Given the description of an element on the screen output the (x, y) to click on. 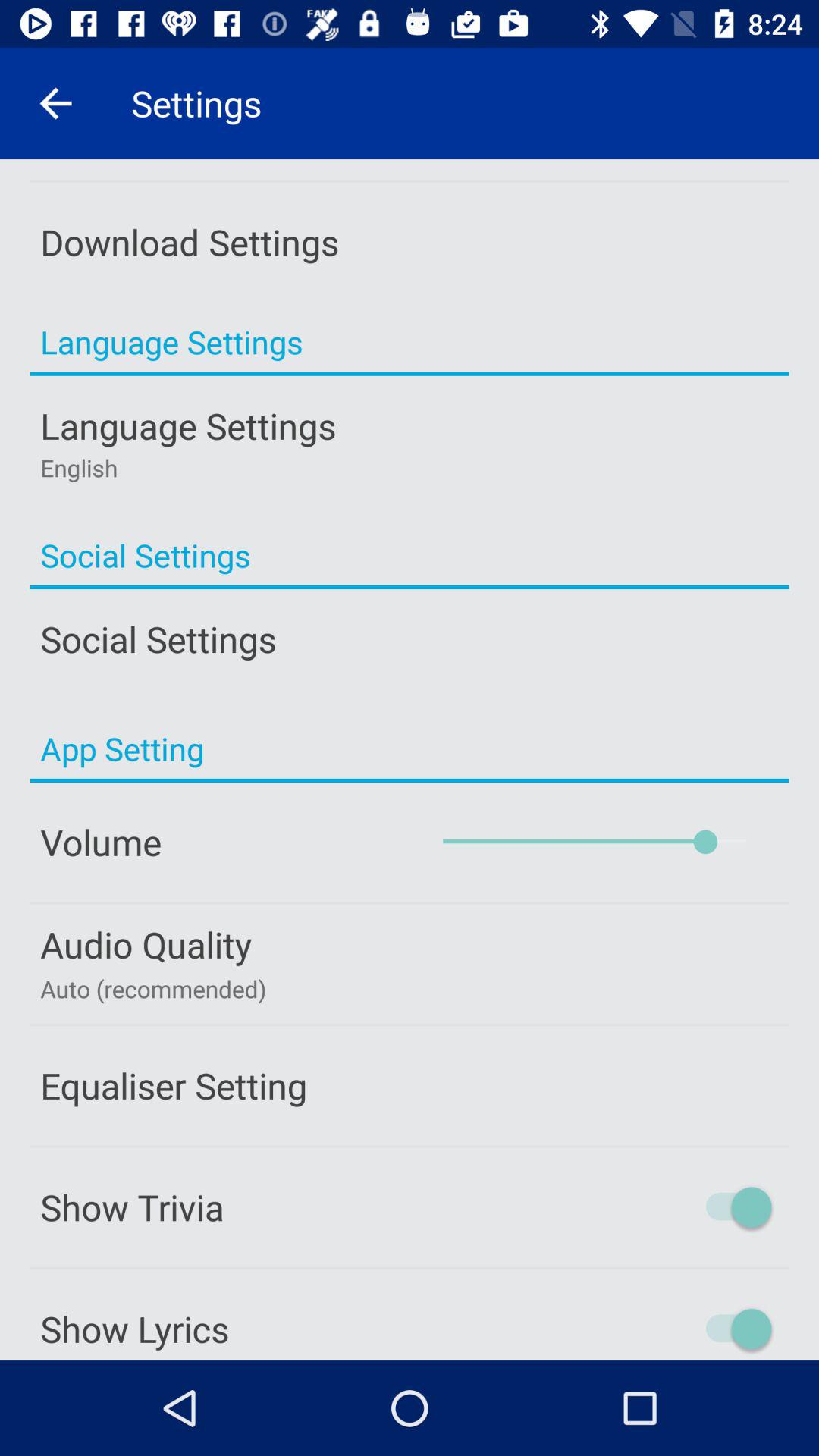
select item next to show trivia (673, 1207)
